Given the description of an element on the screen output the (x, y) to click on. 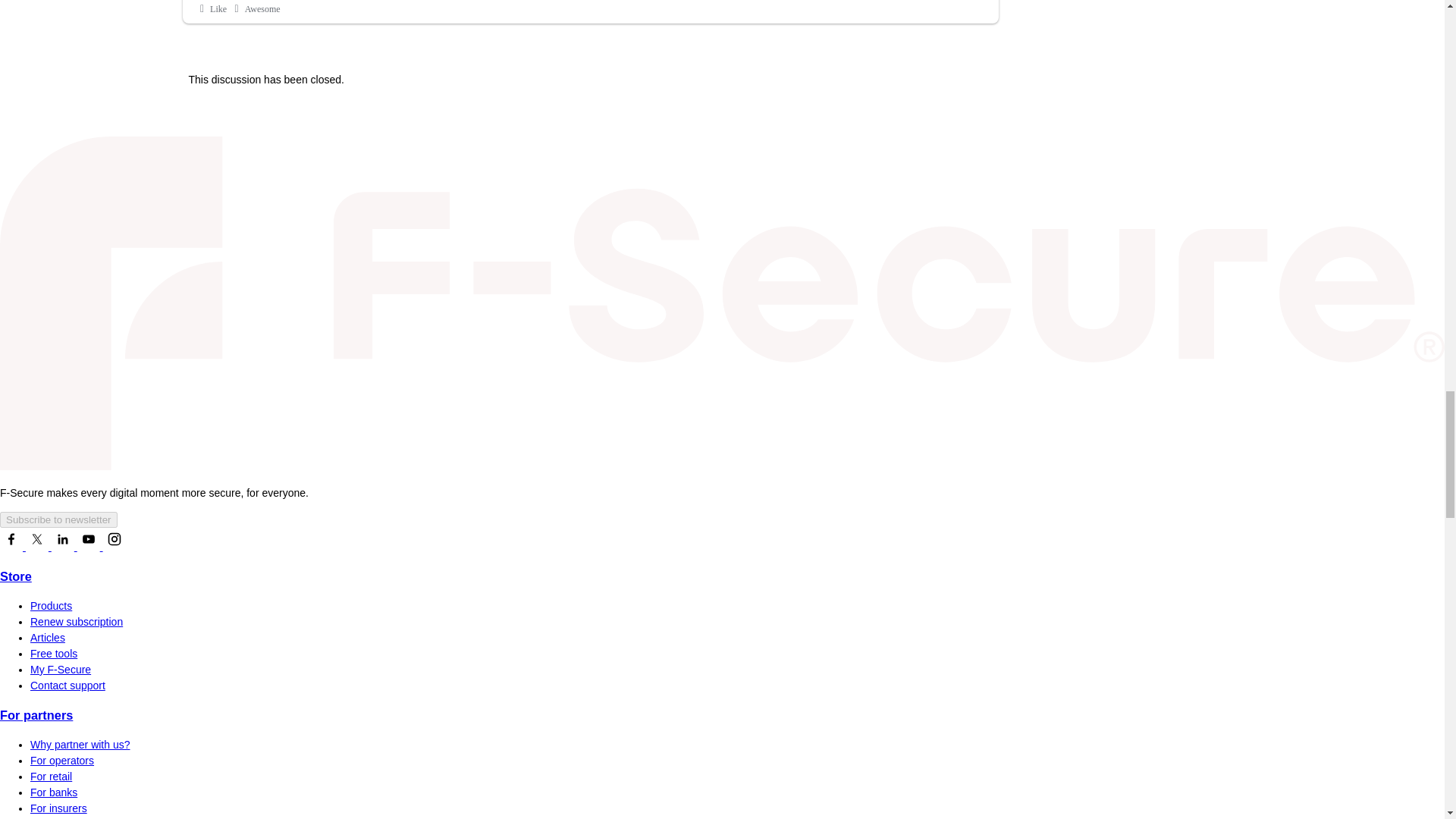
Like (211, 8)
Awesome (255, 8)
Awesome (255, 8)
Like (211, 8)
